Given the description of an element on the screen output the (x, y) to click on. 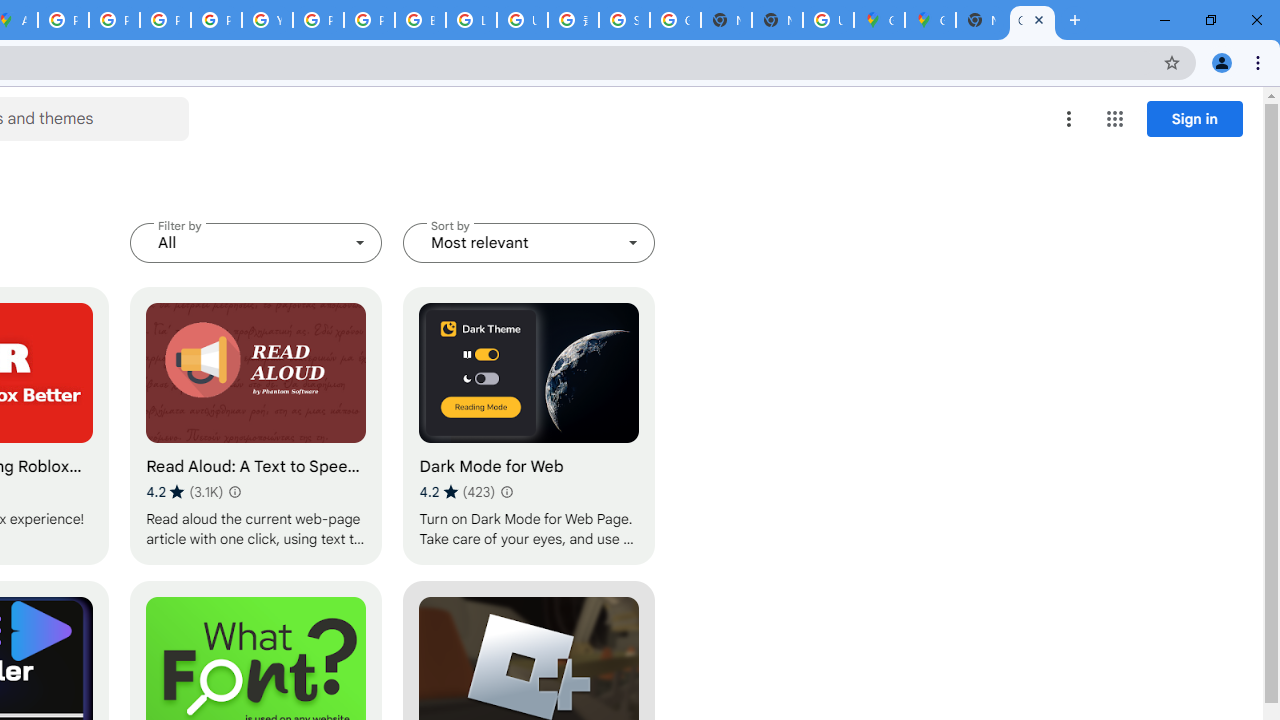
More options menu (1069, 118)
Sort by Most relevant (529, 242)
Google Maps (930, 20)
